Given the description of an element on the screen output the (x, y) to click on. 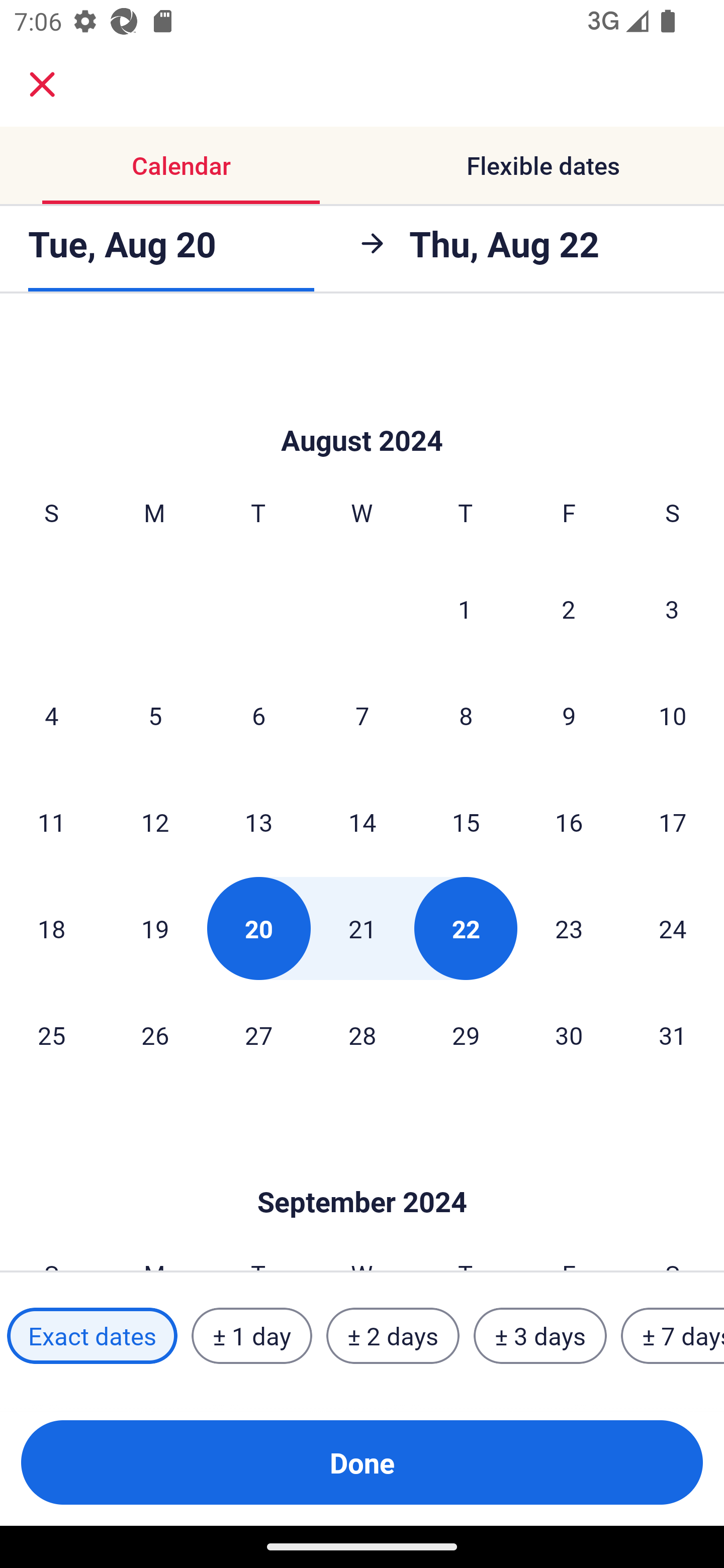
close. (42, 84)
Flexible dates (542, 164)
Skip to Done (362, 410)
1 Thursday, August 1, 2024 (464, 608)
2 Friday, August 2, 2024 (568, 608)
3 Saturday, August 3, 2024 (672, 608)
4 Sunday, August 4, 2024 (51, 714)
5 Monday, August 5, 2024 (155, 714)
6 Tuesday, August 6, 2024 (258, 714)
7 Wednesday, August 7, 2024 (362, 714)
8 Thursday, August 8, 2024 (465, 714)
9 Friday, August 9, 2024 (569, 714)
10 Saturday, August 10, 2024 (672, 714)
11 Sunday, August 11, 2024 (51, 821)
12 Monday, August 12, 2024 (155, 821)
13 Tuesday, August 13, 2024 (258, 821)
14 Wednesday, August 14, 2024 (362, 821)
15 Thursday, August 15, 2024 (465, 821)
16 Friday, August 16, 2024 (569, 821)
17 Saturday, August 17, 2024 (672, 821)
18 Sunday, August 18, 2024 (51, 928)
19 Monday, August 19, 2024 (155, 928)
23 Friday, August 23, 2024 (569, 928)
24 Saturday, August 24, 2024 (672, 928)
25 Sunday, August 25, 2024 (51, 1034)
26 Monday, August 26, 2024 (155, 1034)
27 Tuesday, August 27, 2024 (258, 1034)
28 Wednesday, August 28, 2024 (362, 1034)
29 Thursday, August 29, 2024 (465, 1034)
30 Friday, August 30, 2024 (569, 1034)
31 Saturday, August 31, 2024 (672, 1034)
Skip to Done (362, 1171)
Exact dates (92, 1335)
± 1 day (251, 1335)
± 2 days (392, 1335)
± 3 days (539, 1335)
± 7 days (672, 1335)
Done (361, 1462)
